Given the description of an element on the screen output the (x, y) to click on. 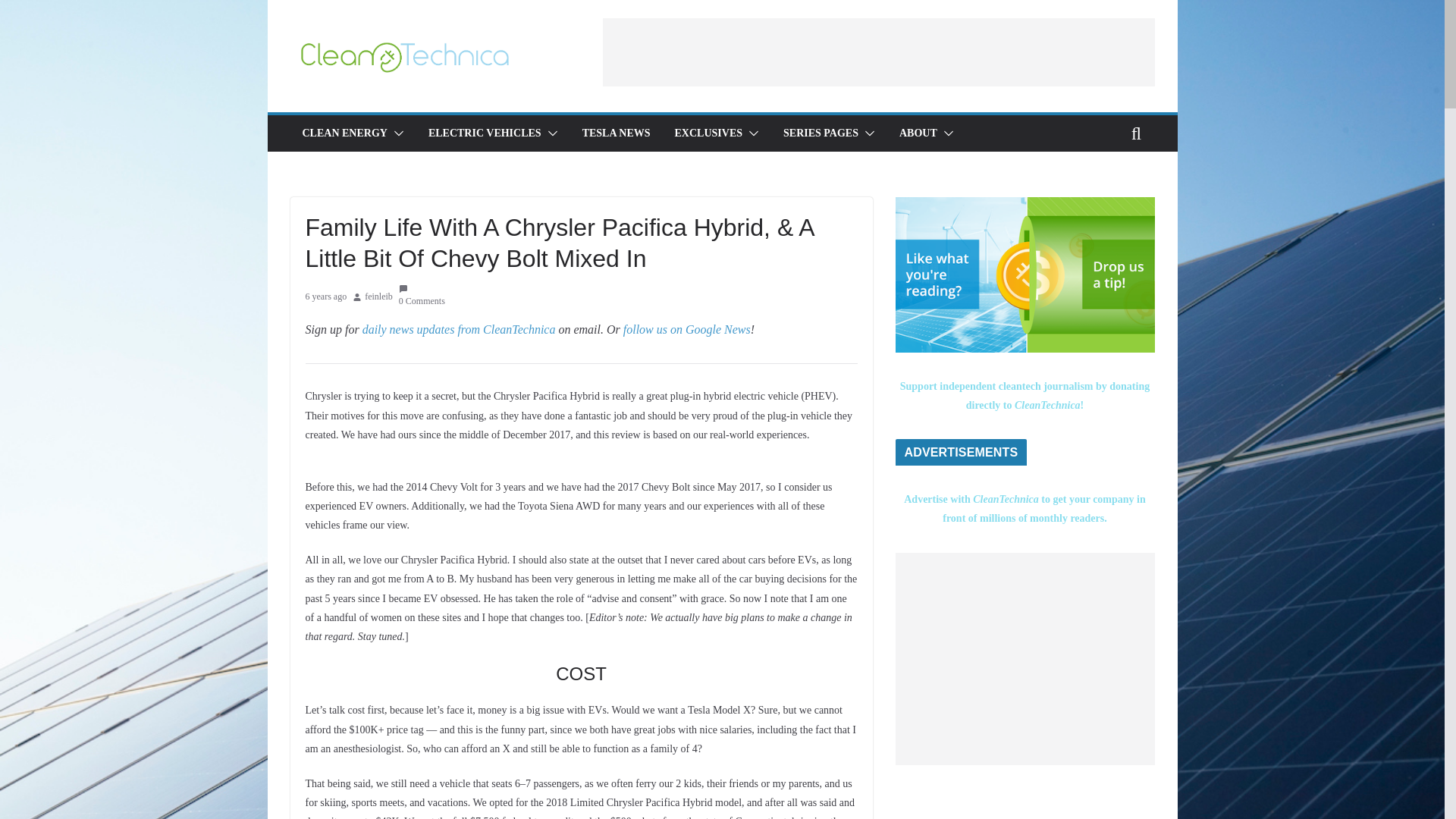
ELECTRIC VEHICLES (484, 133)
SERIES PAGES (821, 133)
EXCLUSIVES (708, 133)
CLEAN ENERGY (344, 133)
TESLA NEWS (616, 133)
feinleib (379, 297)
